Given the description of an element on the screen output the (x, y) to click on. 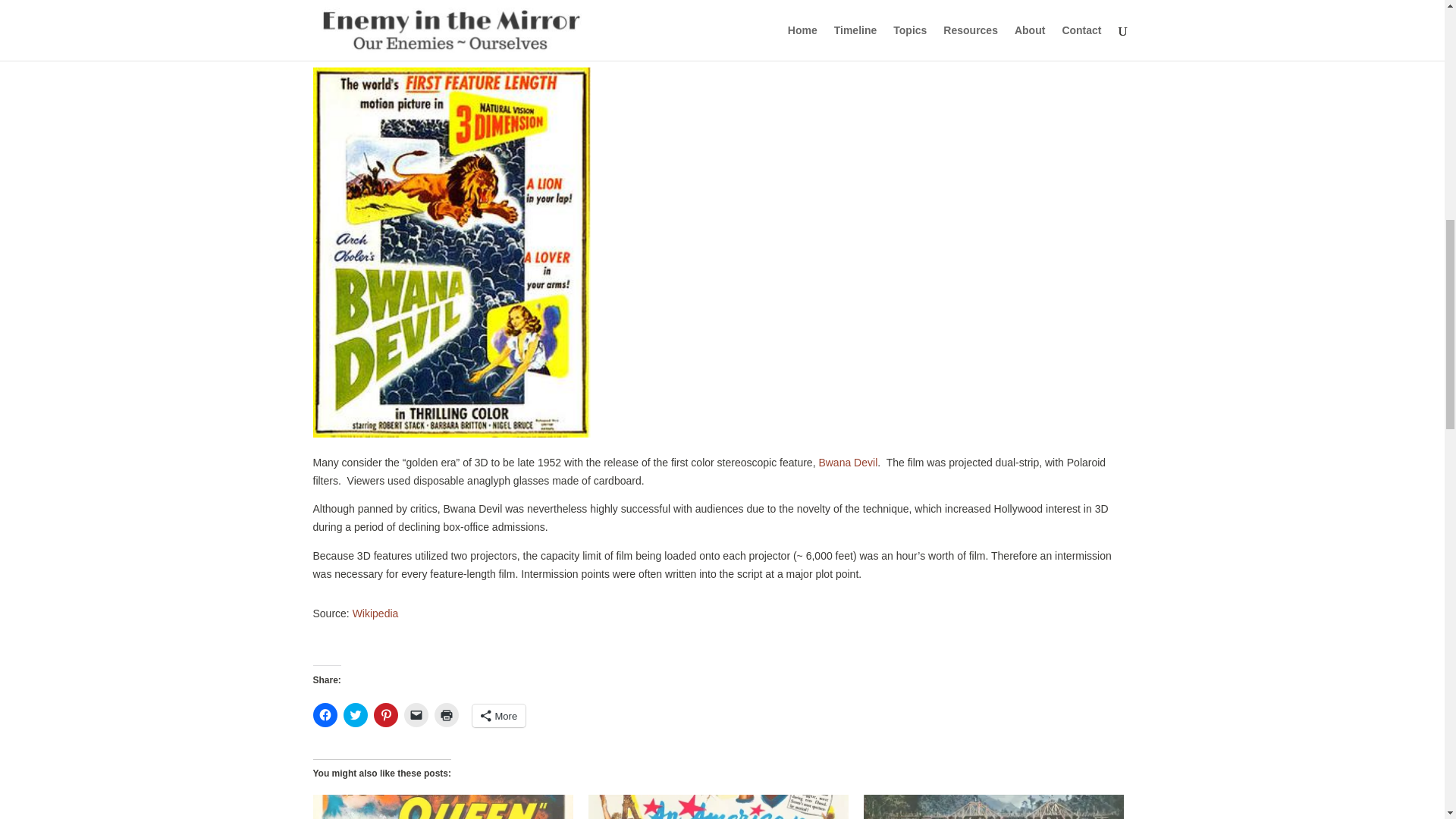
Click to print (445, 714)
More (498, 715)
Wikipedia (375, 613)
Click to email a link to a friend (415, 714)
Bwana Devil (847, 462)
An American in Paris (718, 806)
Click to share on Twitter (354, 714)
Click to share on Facebook (324, 714)
The African Queen (442, 806)
The Bridge on the River Kwai (992, 806)
Click to share on Pinterest (384, 714)
